Given the description of an element on the screen output the (x, y) to click on. 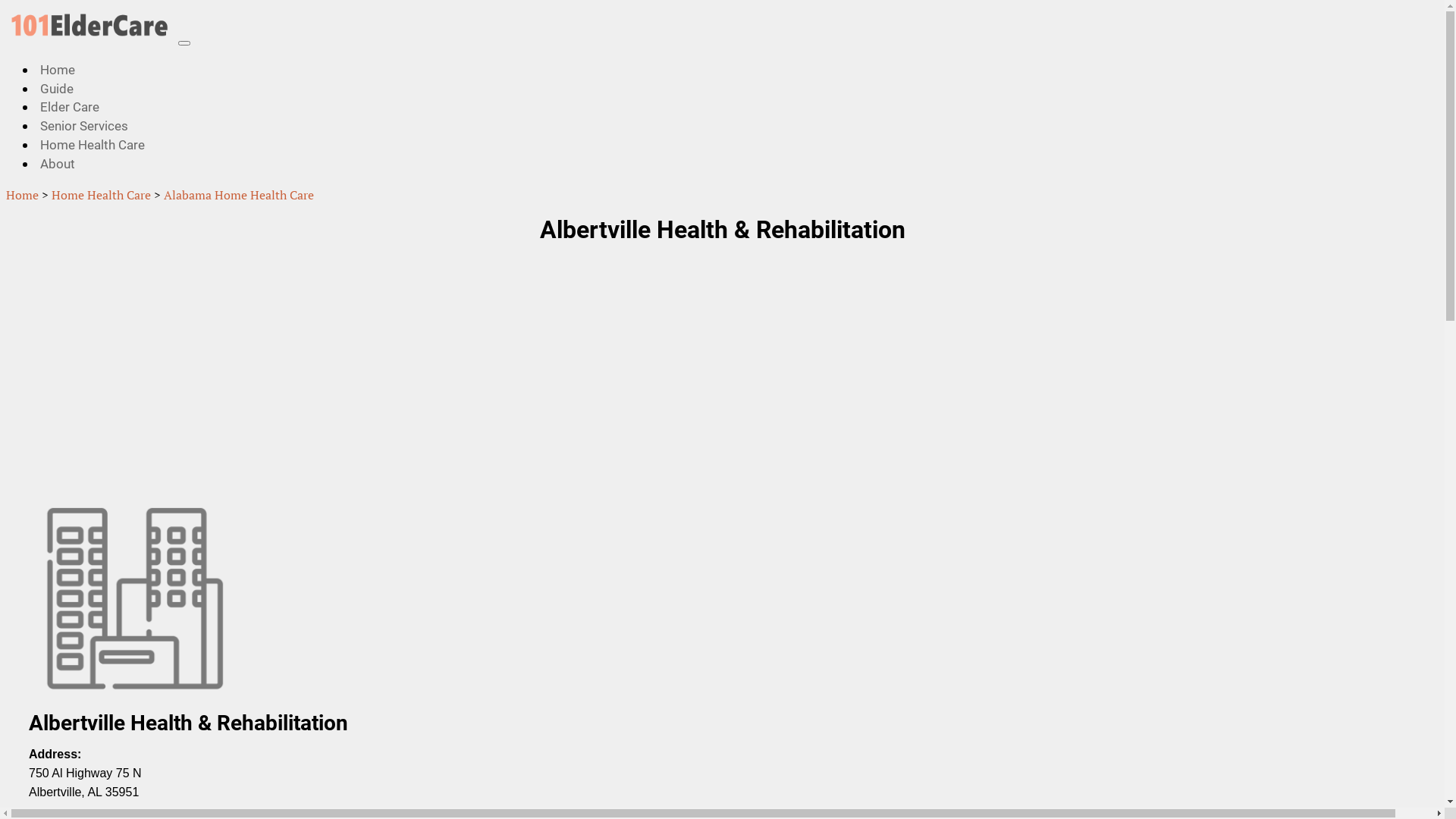
Elder Care Element type: text (69, 106)
About Element type: text (57, 163)
Home Element type: text (22, 194)
Alabama Home Health Care Element type: text (238, 194)
Home Element type: text (57, 69)
Senior Services Element type: text (84, 125)
Advertisement Element type: hover (461, 375)
Home Health Care Element type: text (100, 194)
Guide Element type: text (56, 88)
Home Health Care Element type: text (92, 144)
